Given the description of an element on the screen output the (x, y) to click on. 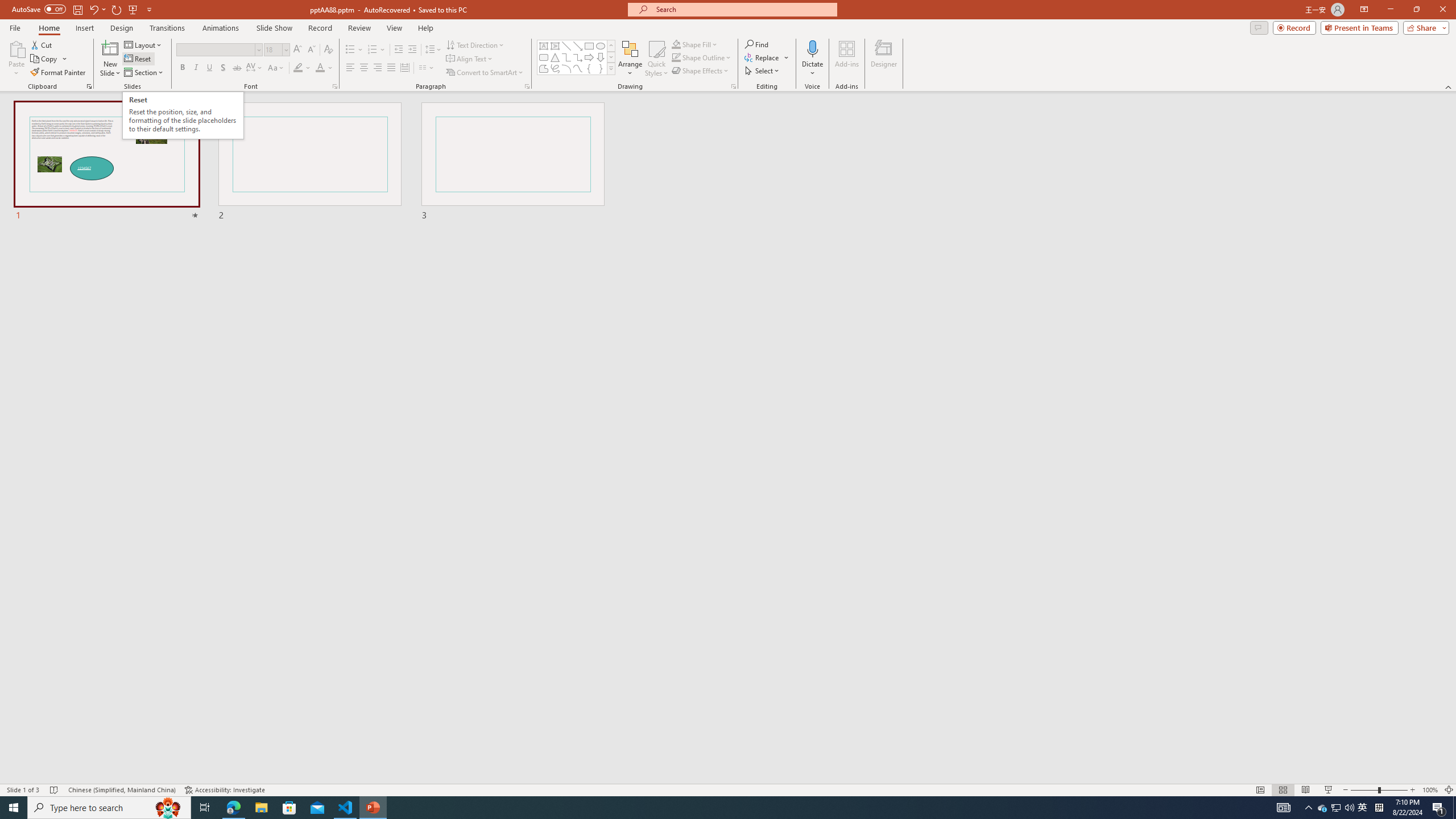
Shape Outline Teal, Accent 1 (675, 56)
